Given the description of an element on the screen output the (x, y) to click on. 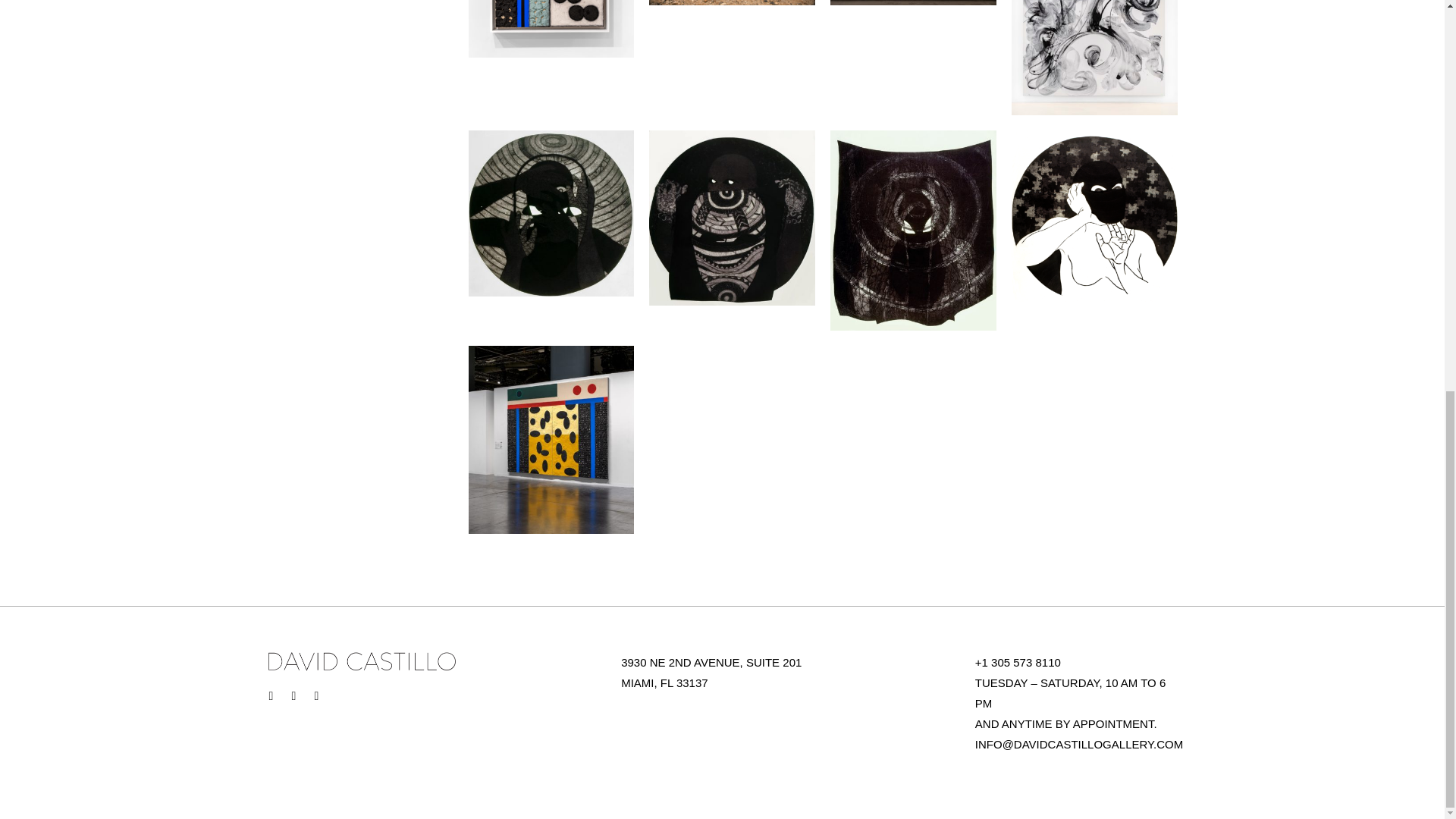
belkis ayon my vernicle 1 (551, 213)
belkis ayon my vernicle 2 (732, 217)
